Given the description of an element on the screen output the (x, y) to click on. 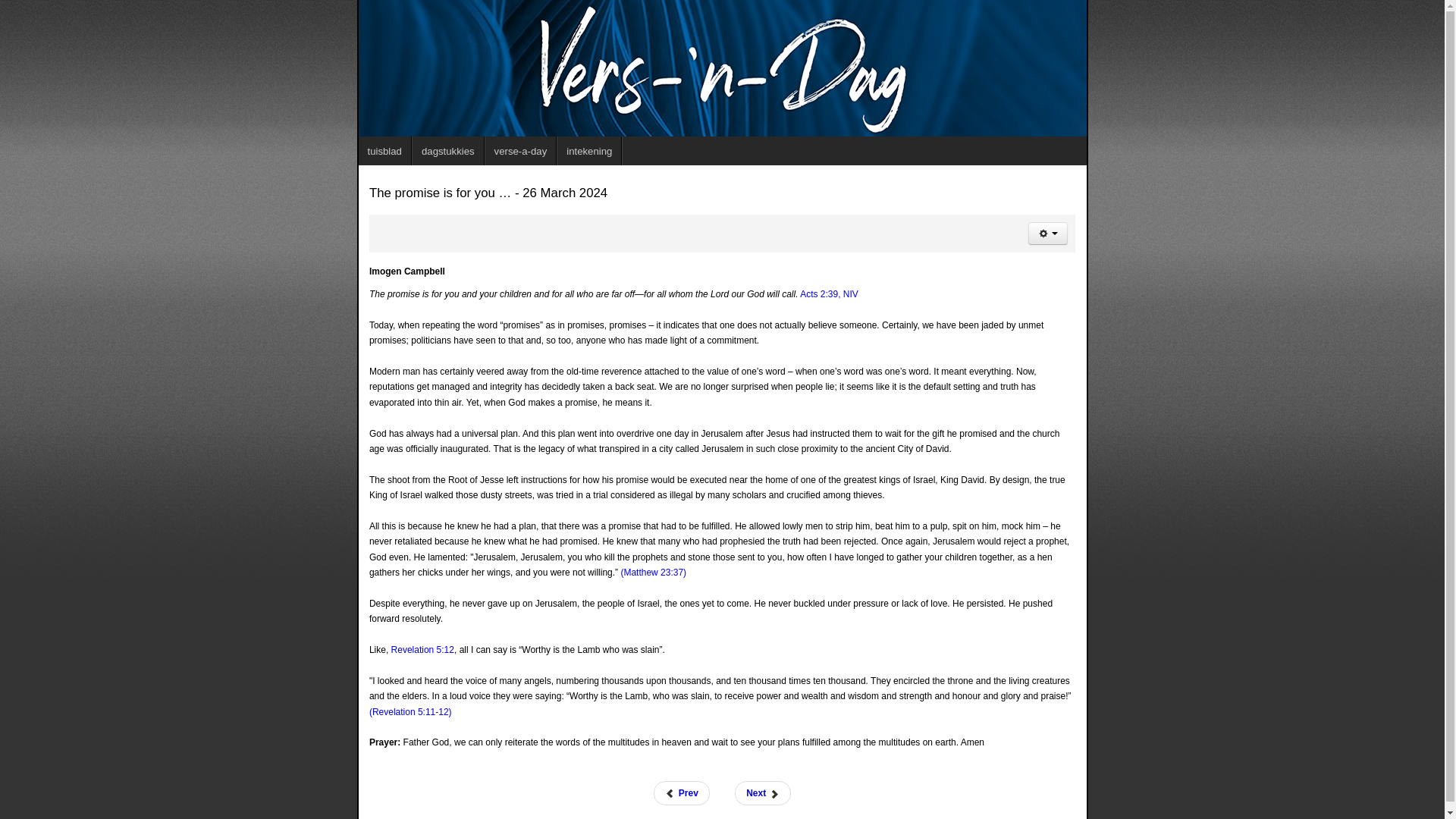
intekening (589, 150)
tuisblad (384, 150)
dagstukkies (448, 150)
Next (762, 793)
Revelation 5:12 (422, 649)
verse-a-day (520, 150)
Prev (681, 793)
Acts 2:39, NIV (829, 294)
